Given the description of an element on the screen output the (x, y) to click on. 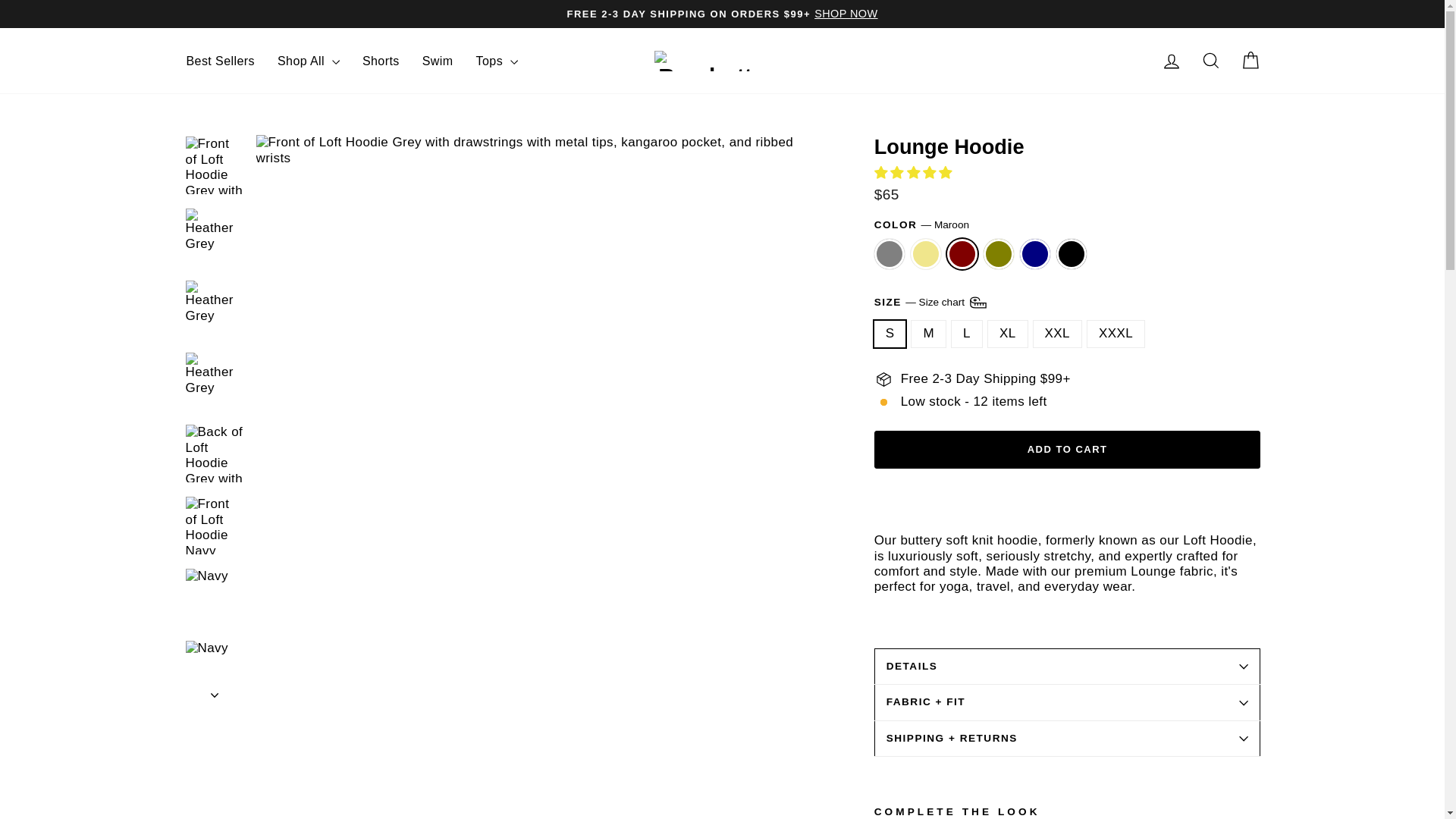
account (1170, 61)
icon-chevron (214, 694)
icon-search (1210, 60)
Best Sellers (219, 60)
